Given the description of an element on the screen output the (x, y) to click on. 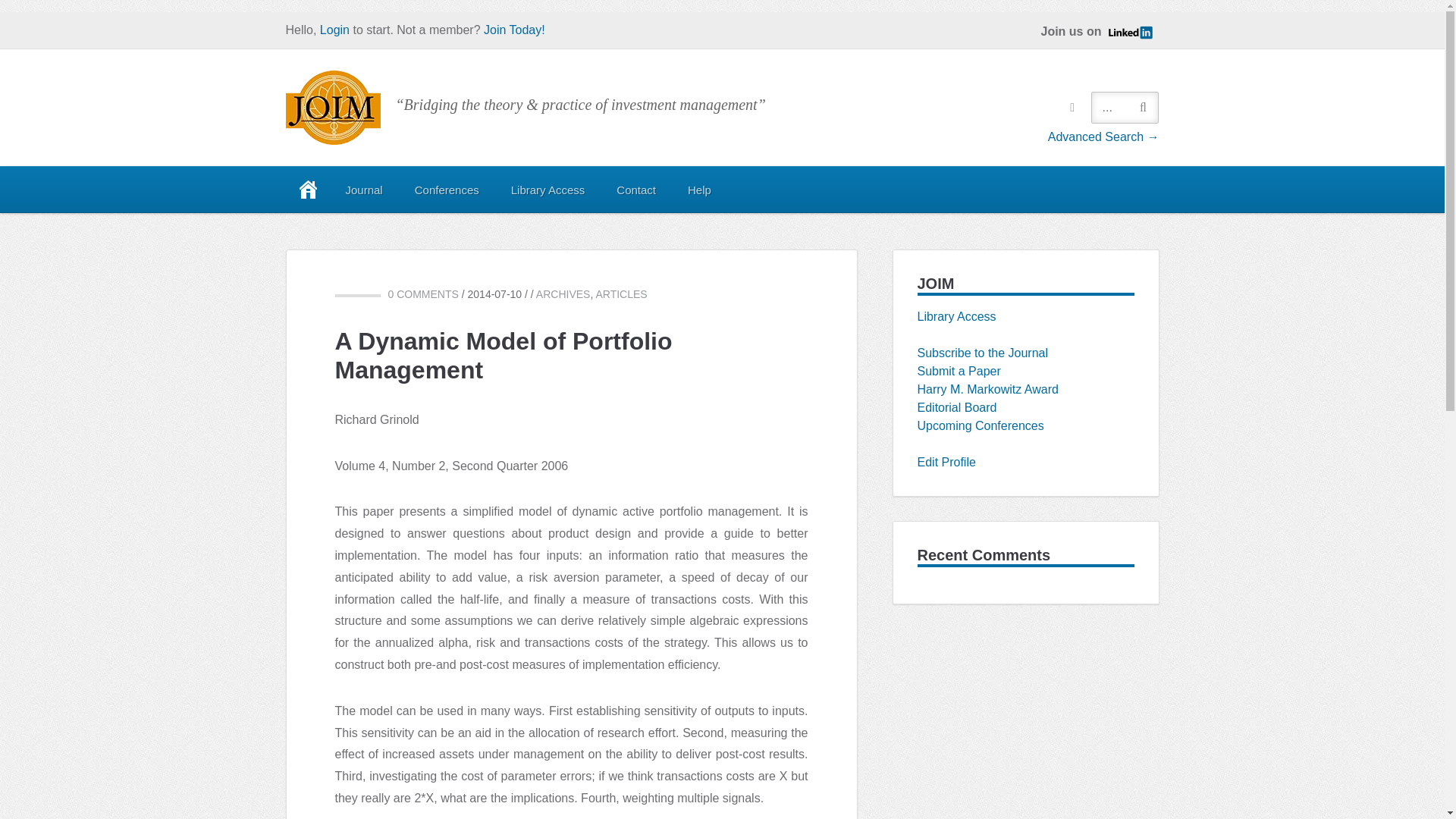
Join Today! (513, 29)
2014-07-10 (494, 294)
Login (334, 29)
